Given the description of an element on the screen output the (x, y) to click on. 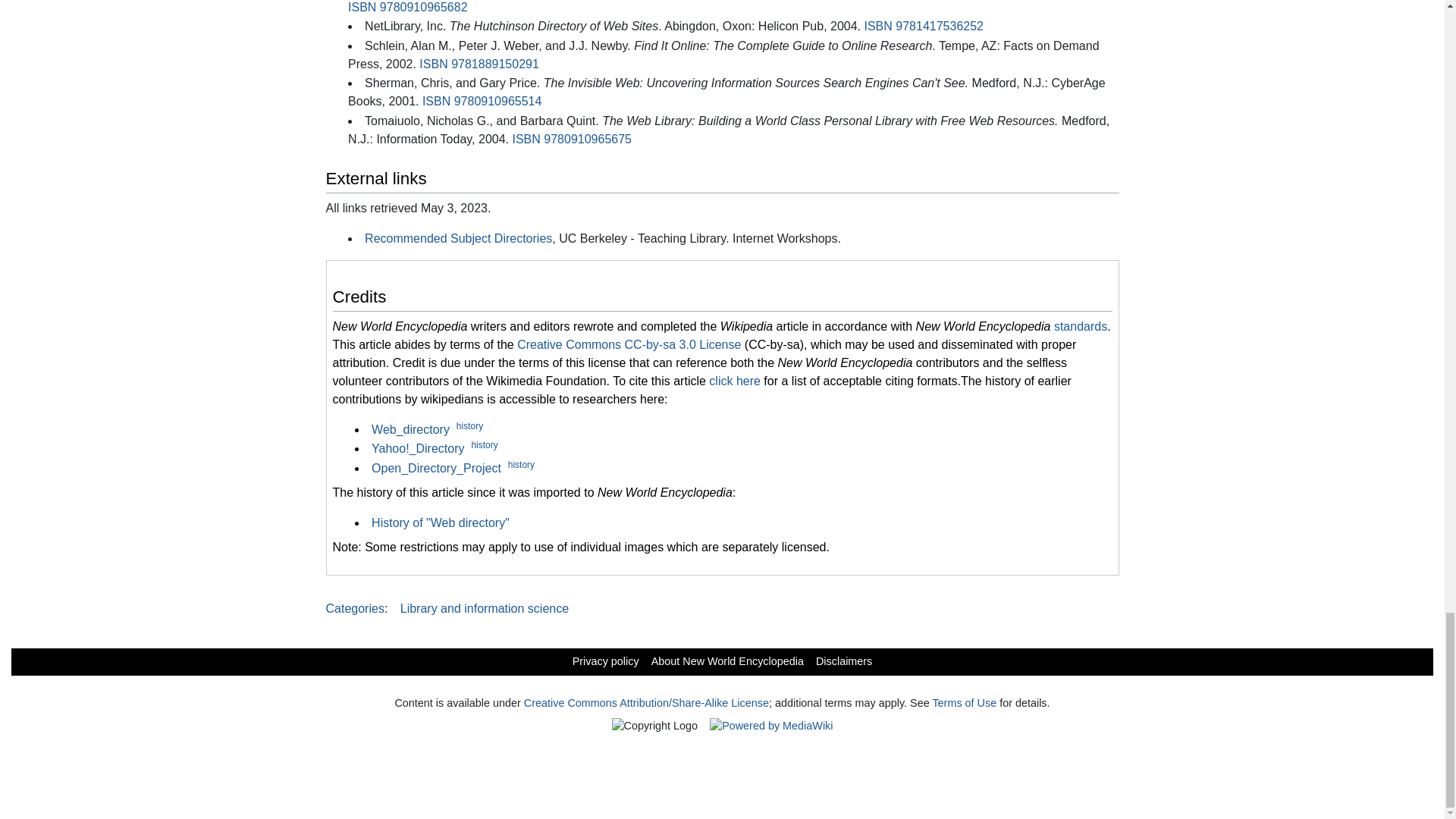
Help:Writers Manual (1080, 326)
Category:Library and information science (484, 608)
Special:Categories (355, 608)
New World Encyclopedia:About (726, 661)
New World Encyclopedia:Privacy policy (605, 661)
New World Encyclopedia:Creative Commons CC-by-sa 3.0 (628, 344)
